Given the description of an element on the screen output the (x, y) to click on. 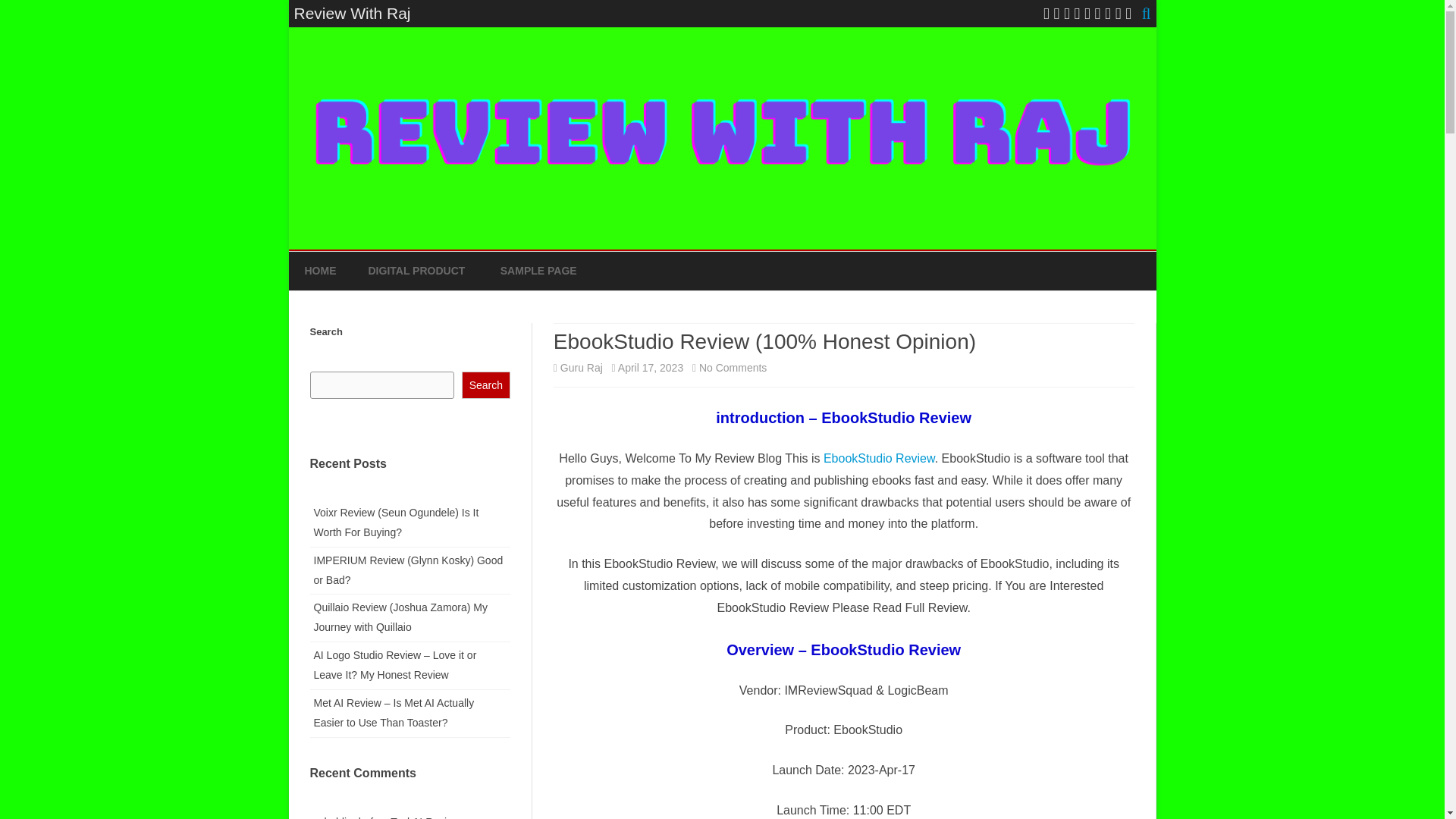
EbookStudio Review (879, 458)
Guru Raj (581, 367)
SAMPLE PAGE (538, 271)
DIGITAL PRODUCT (416, 271)
